Given the description of an element on the screen output the (x, y) to click on. 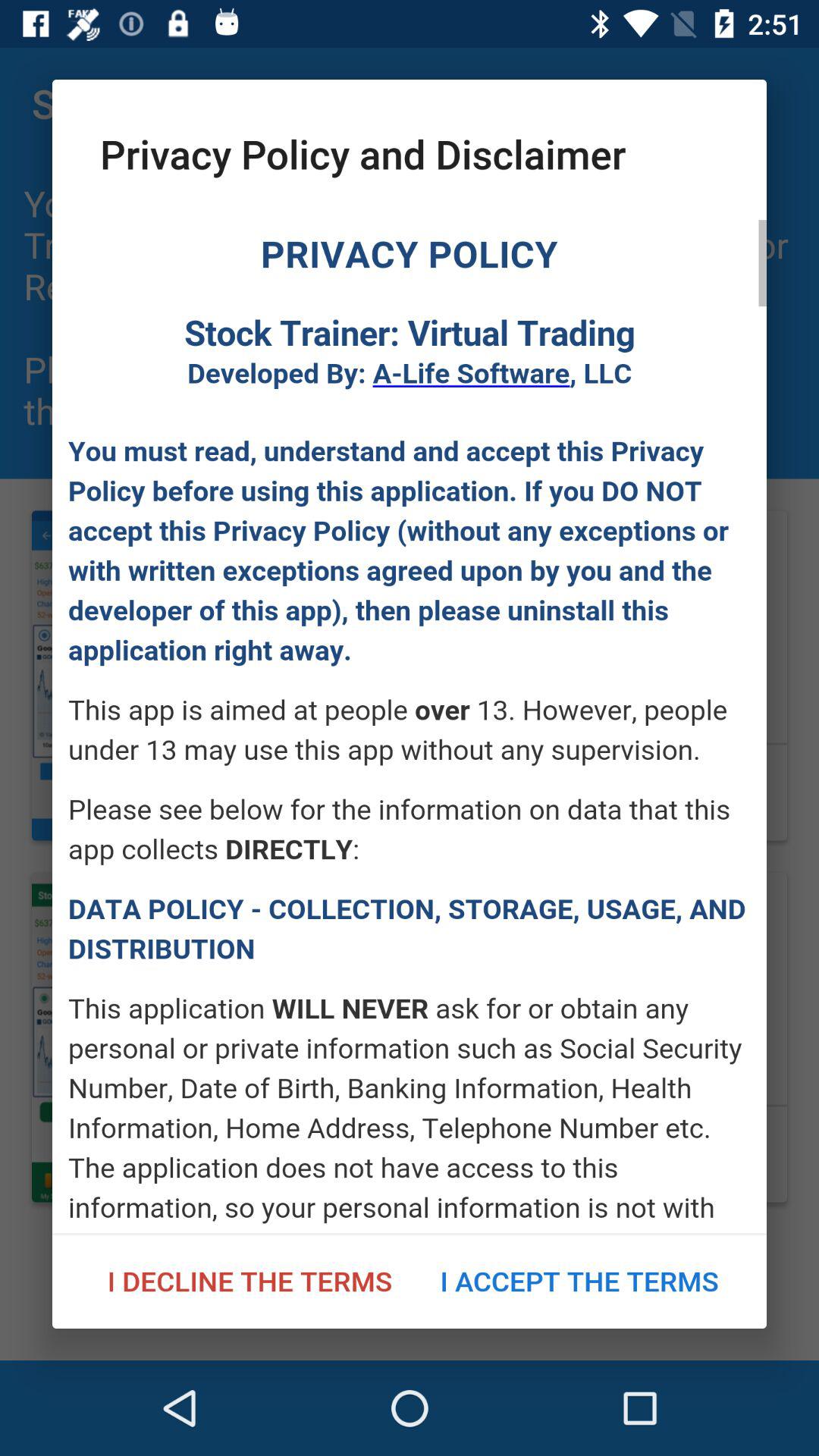
select the add (409, 726)
